Given the description of an element on the screen output the (x, y) to click on. 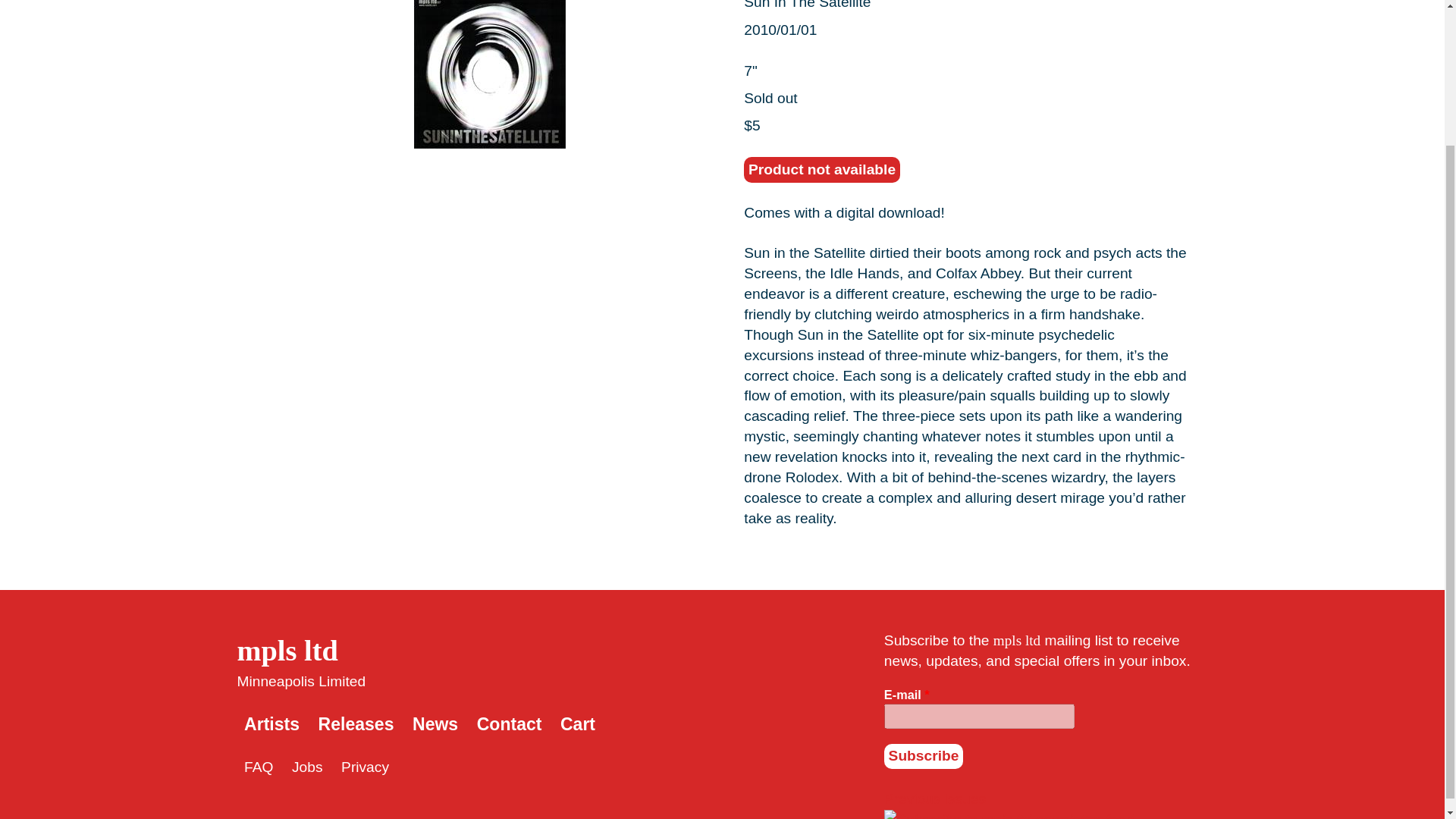
Product not available (821, 169)
Jobs (307, 767)
Subscribe (922, 756)
Subscribe (922, 756)
Product not available (821, 169)
FAQ (258, 767)
News (435, 723)
Privacy (364, 767)
Contact (509, 723)
Releases (356, 723)
Previous issues (934, 798)
Cart (577, 723)
Artists (271, 723)
